Given the description of an element on the screen output the (x, y) to click on. 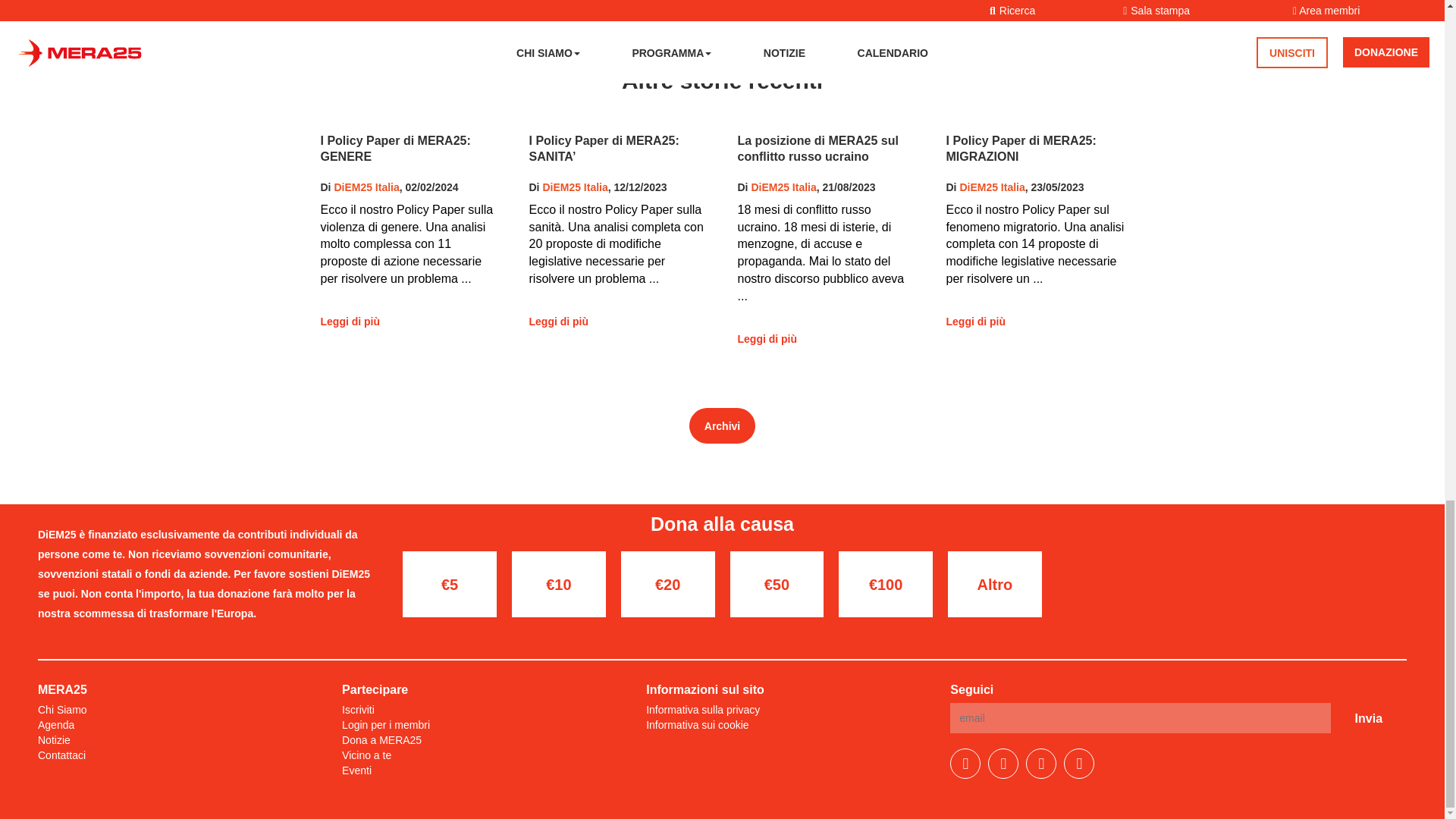
Posts by DiEM25 Italia (992, 186)
Posts by DiEM25 Italia (783, 186)
Posts by DiEM25 Italia (365, 186)
Invia (1368, 717)
Posts by DiEM25 Italia (574, 186)
